Given the description of an element on the screen output the (x, y) to click on. 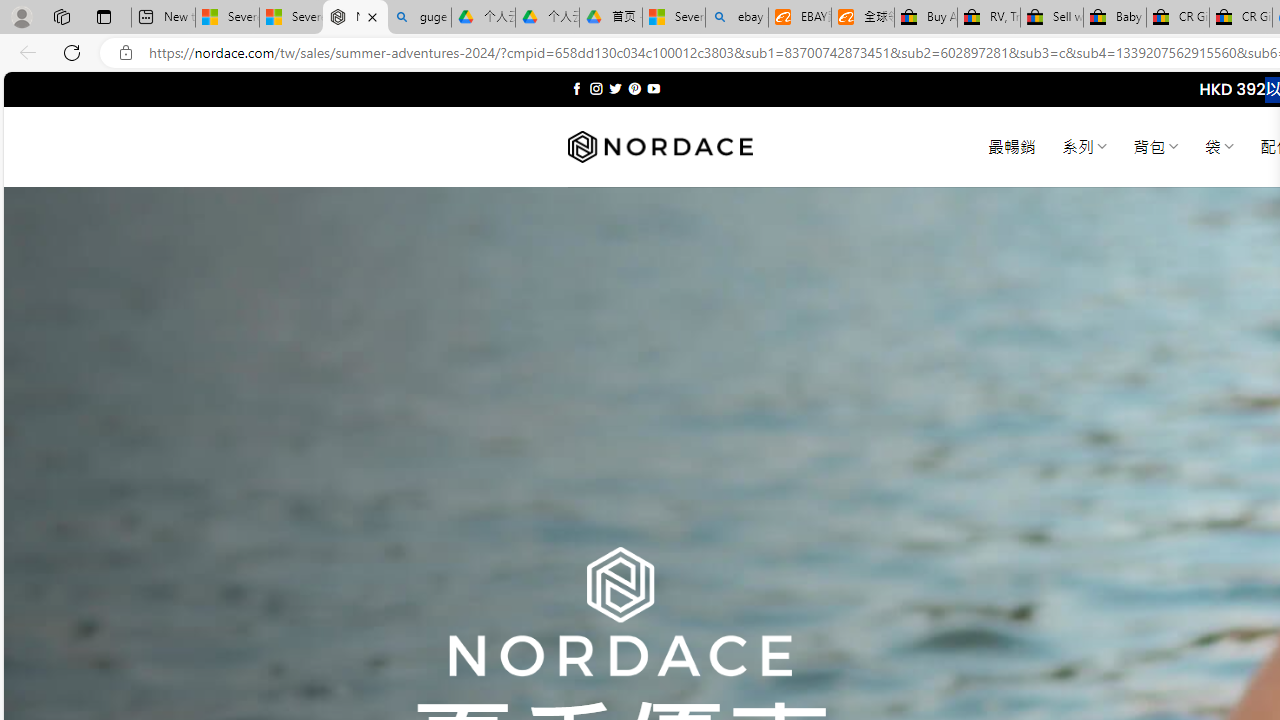
Baby Keepsakes & Announcements for sale | eBay (1114, 17)
Follow on Instagram (596, 88)
Buy Auto Parts & Accessories | eBay (925, 17)
